Given the description of an element on the screen output the (x, y) to click on. 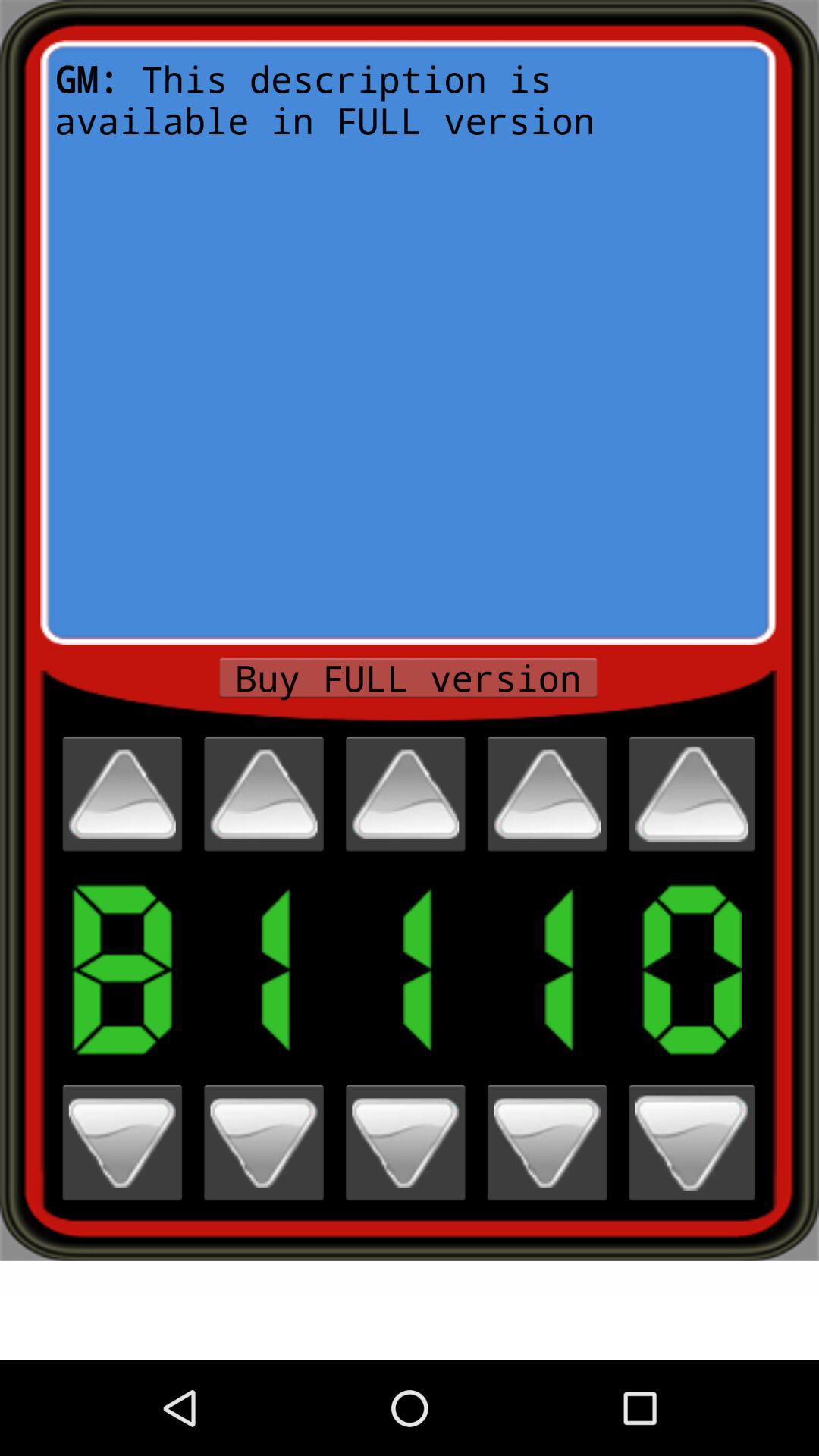
increase counter (263, 794)
